Given the description of an element on the screen output the (x, y) to click on. 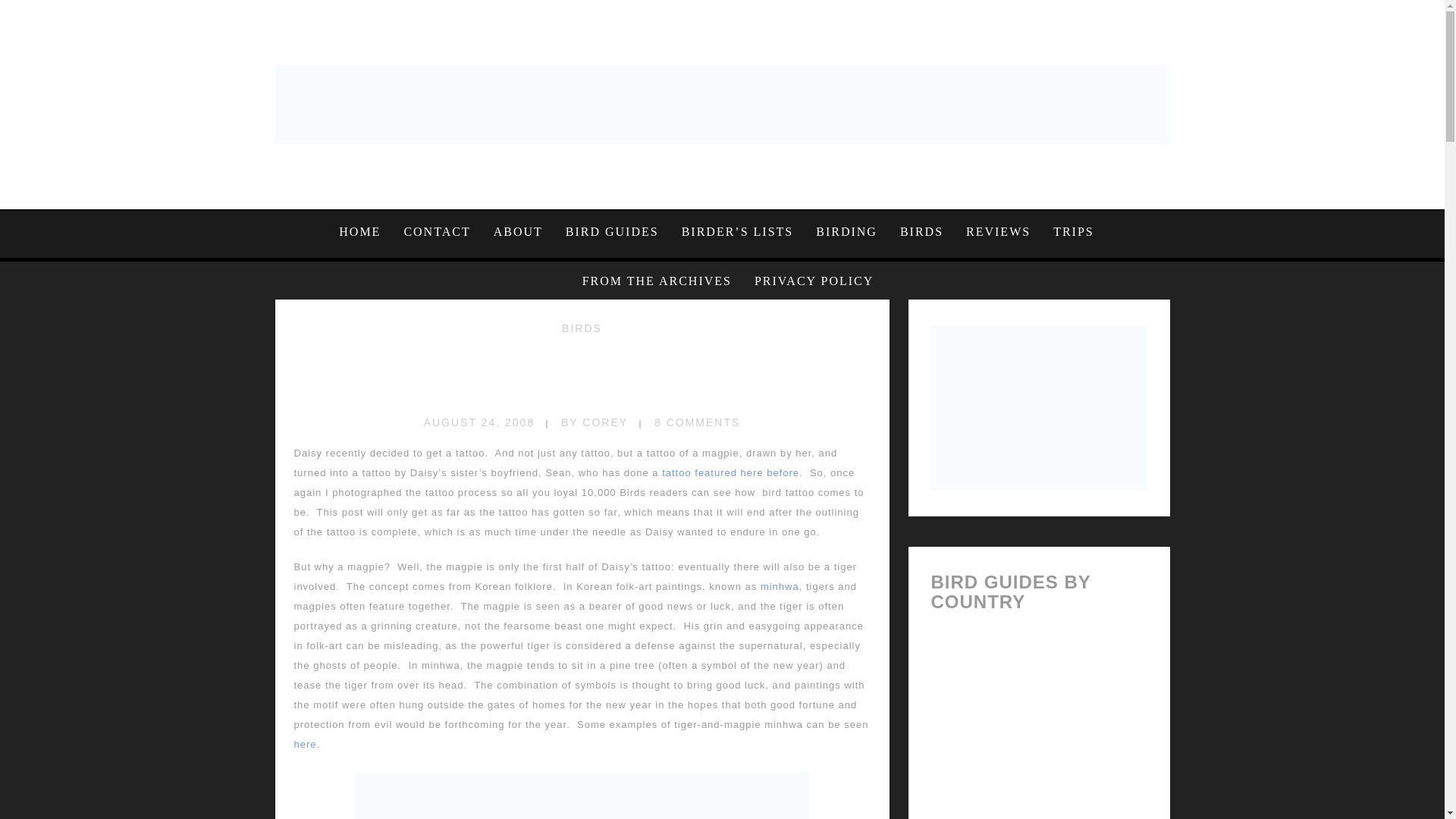
PRIVACY POLICY (807, 281)
Permanent (582, 375)
BIRDING (846, 231)
magpie tattoo stencil (582, 794)
minhwa (779, 586)
About Minhwa (779, 586)
BIRDS (921, 231)
HOME (365, 231)
BIRD GUIDES (611, 231)
BY COREY (593, 422)
